Given the description of an element on the screen output the (x, y) to click on. 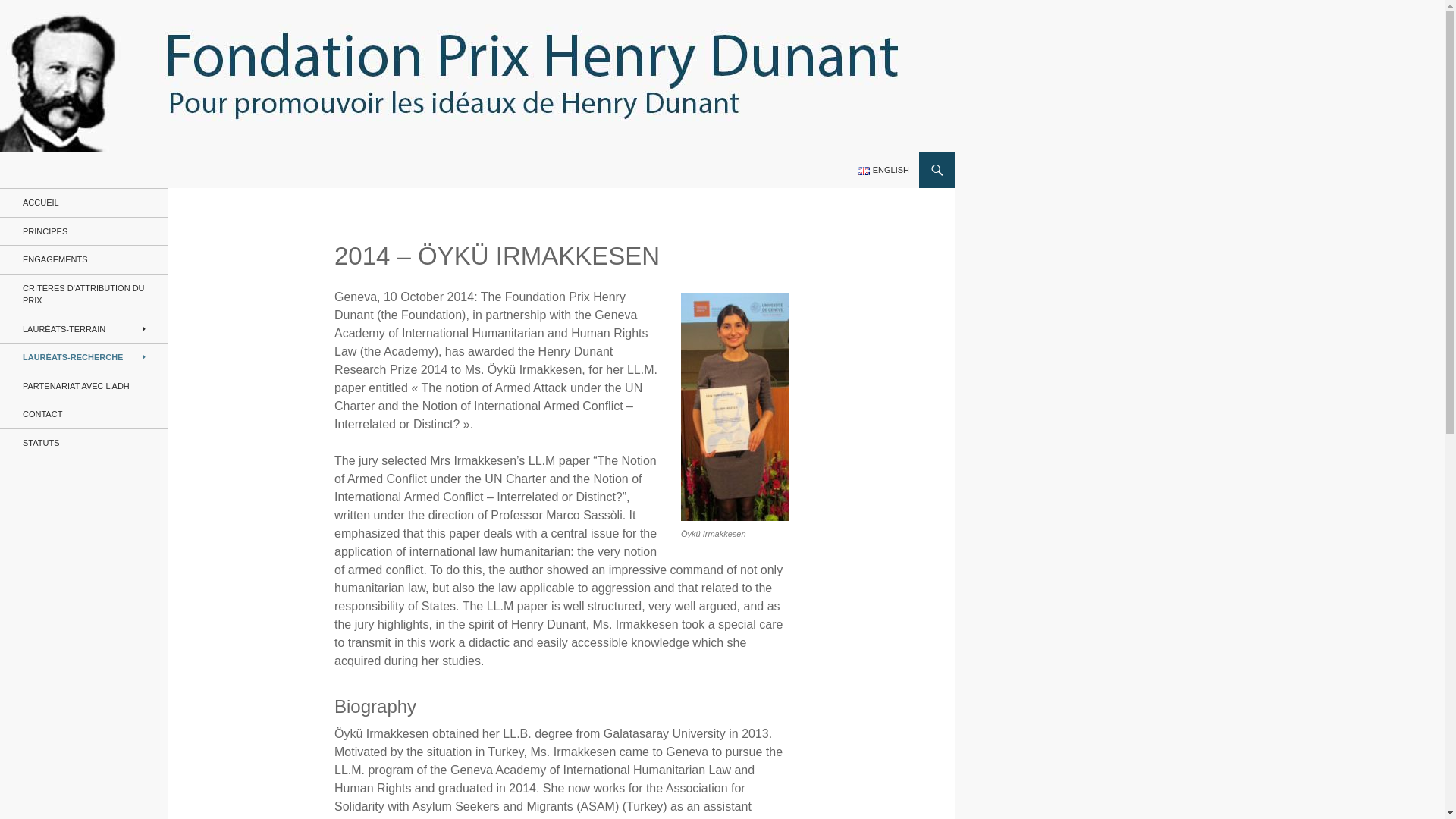
ACCUEIL (84, 203)
ENGLISH (883, 169)
ENGAGEMENTS (84, 259)
PRINCIPES (84, 230)
